Given the description of an element on the screen output the (x, y) to click on. 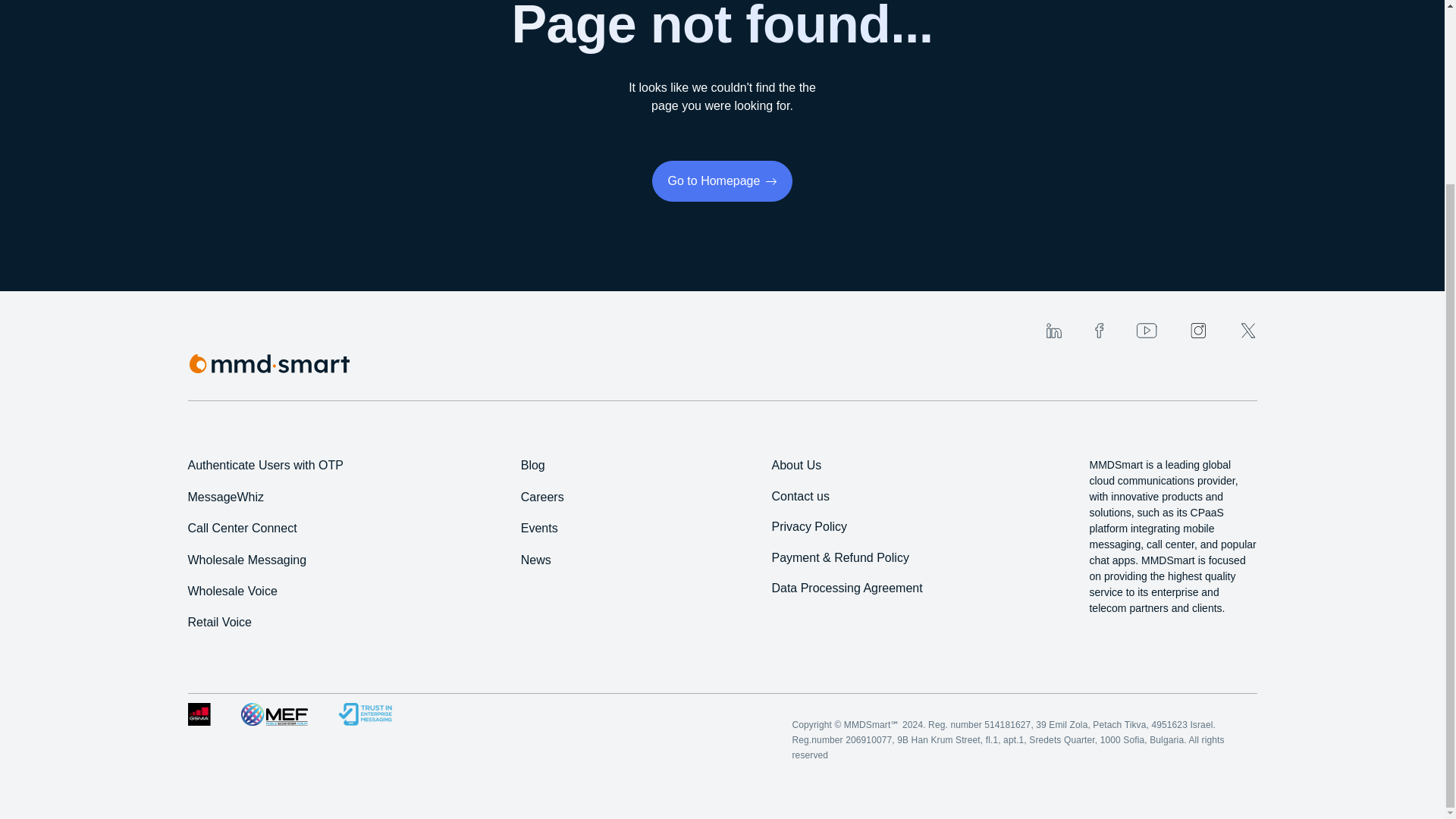
Go to Homepage (722, 180)
Wholesale Messaging (247, 559)
Retail Voice (219, 621)
Contact us (799, 495)
Authenticate Users with OTP (265, 464)
MessageWhiz (225, 496)
Careers (542, 496)
Wholesale Voice (232, 590)
Data Processing Agreement (846, 587)
About Us (796, 464)
Events (539, 527)
Blog (532, 464)
Privacy Policy (809, 526)
News (536, 559)
Call Center Connect (242, 527)
